Given the description of an element on the screen output the (x, y) to click on. 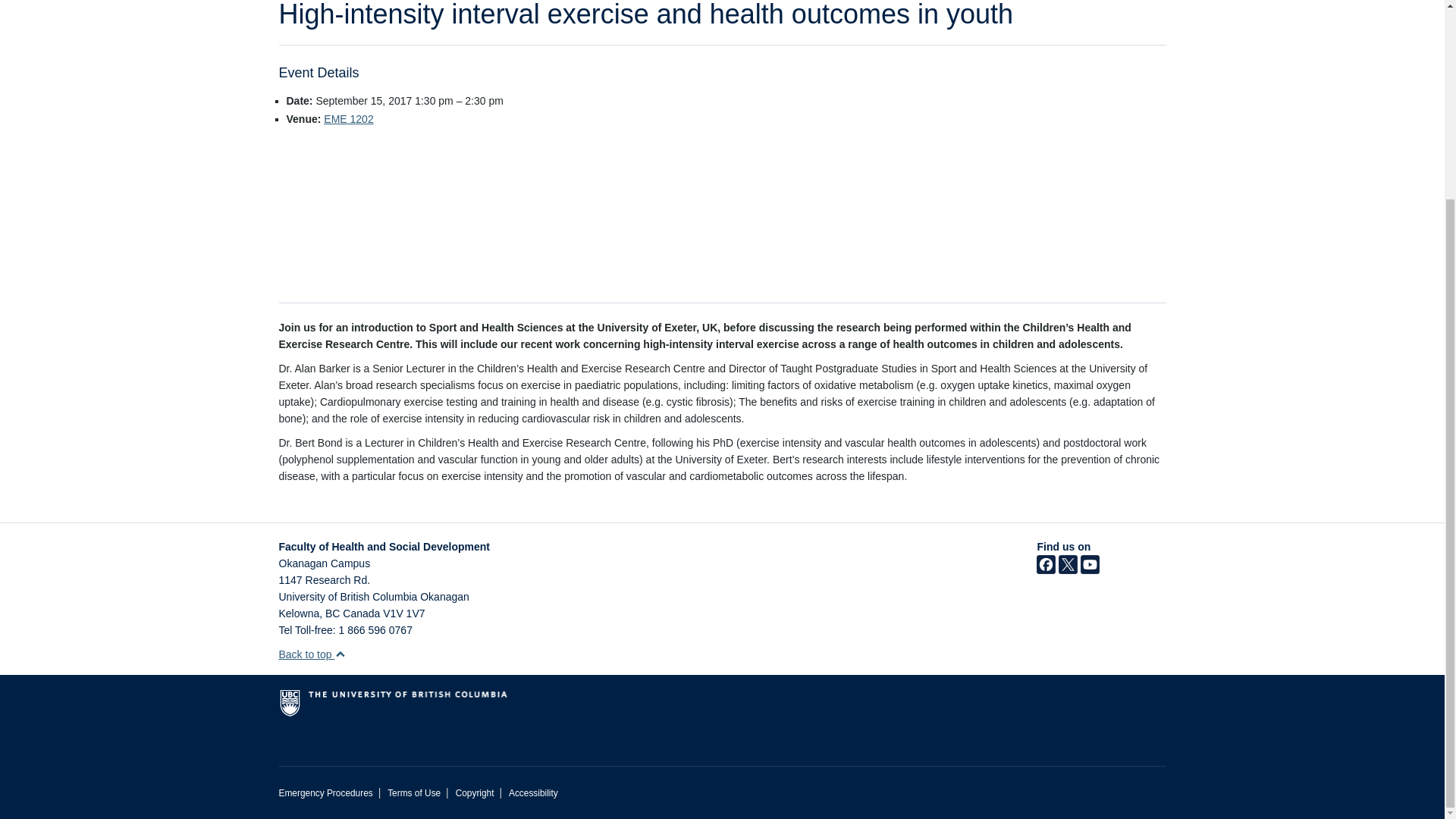
Accessibility (532, 792)
Accessibility (532, 792)
Terms of Use (414, 792)
Terms of Use (414, 792)
The University of British Columbia (456, 709)
Twitter icon (1067, 570)
YouTube icon (1089, 570)
Emergency Procedures (325, 792)
Back to top (312, 654)
UBC Copyright (475, 792)
Copyright (475, 792)
EME 1202 (347, 119)
Back to top (312, 654)
Emergency Procedures (325, 792)
Facebook icon (1045, 570)
